Given the description of an element on the screen output the (x, y) to click on. 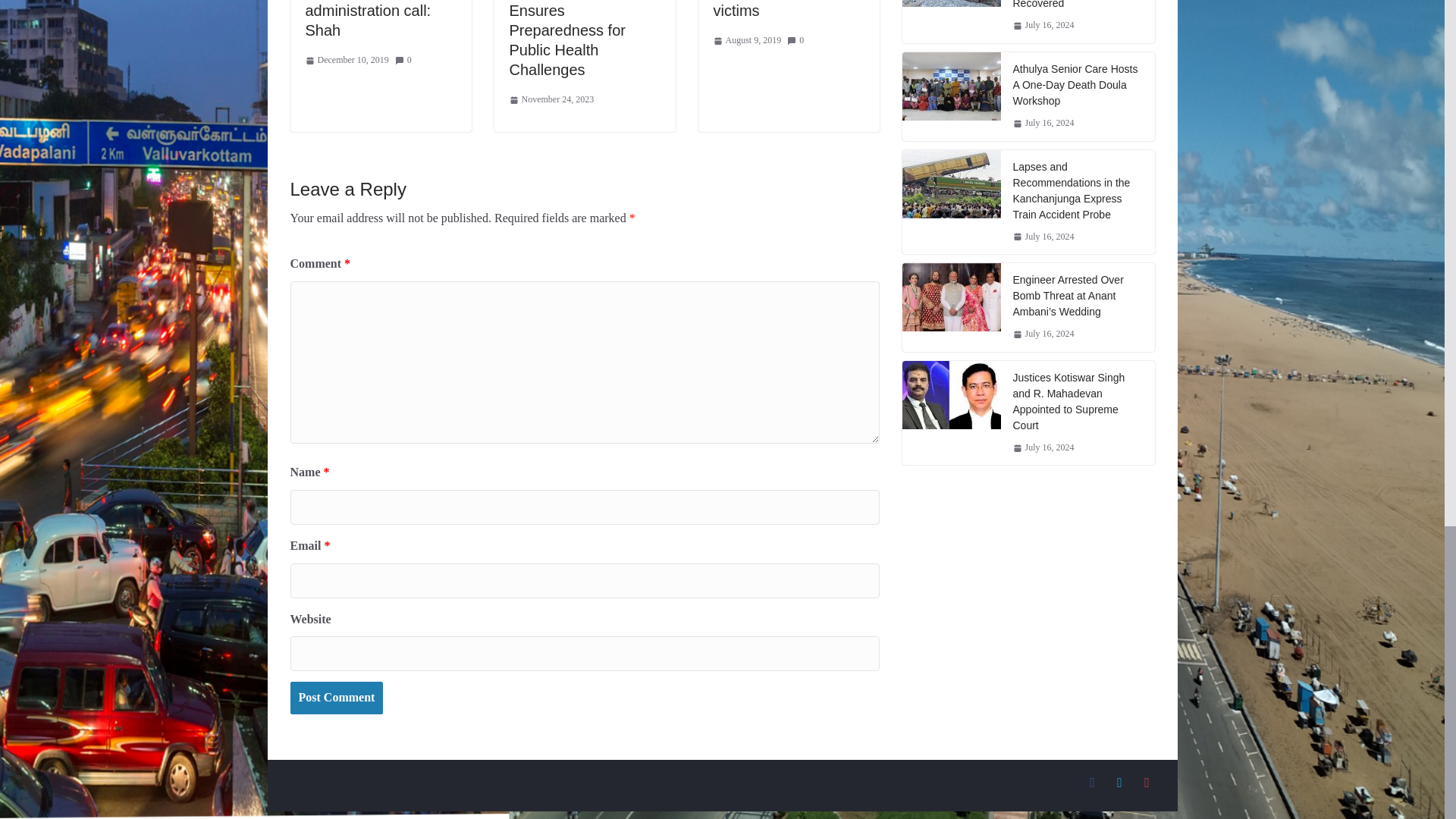
Post Comment (335, 697)
